Given the description of an element on the screen output the (x, y) to click on. 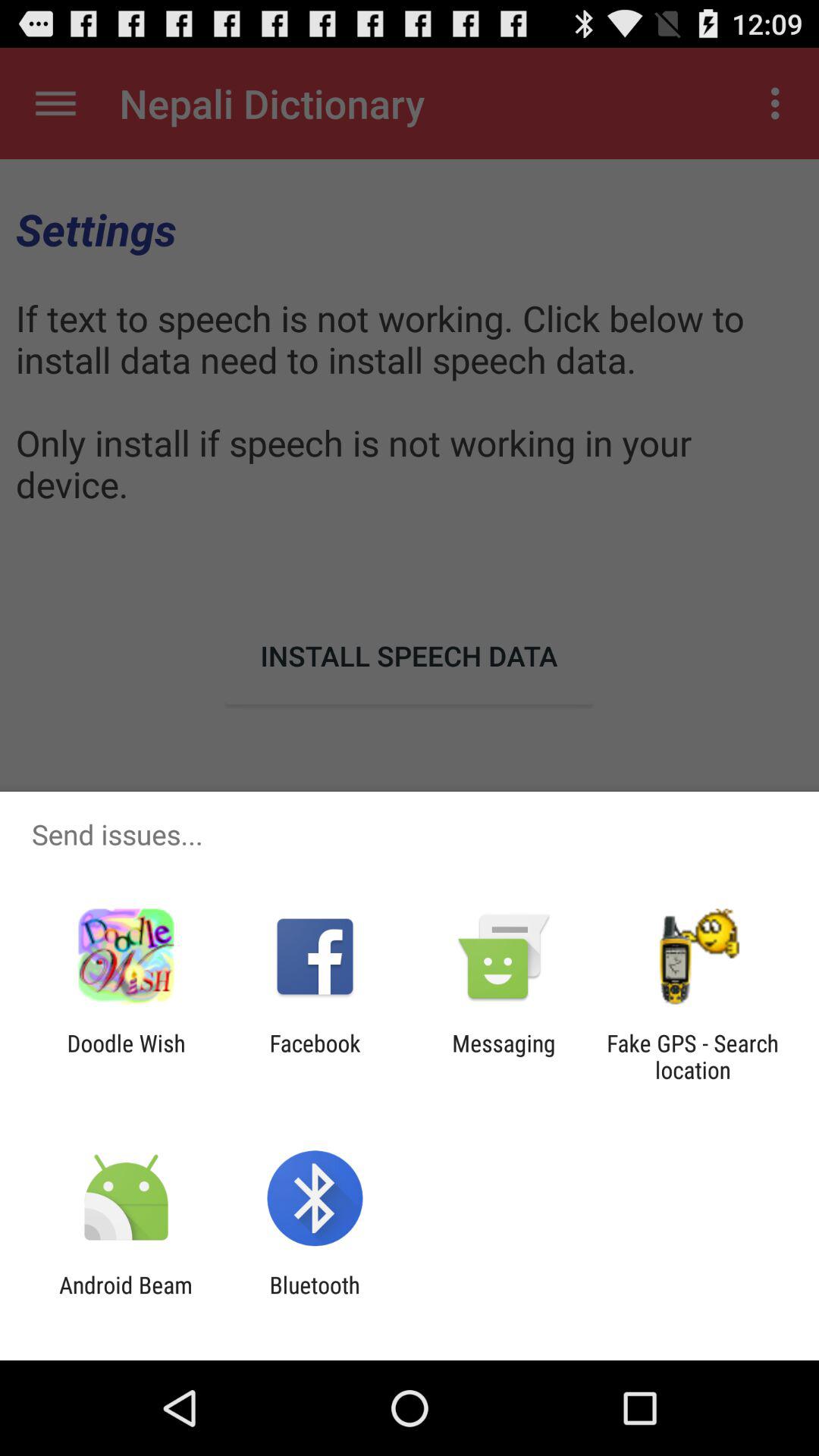
tap icon next to the messaging (314, 1056)
